Given the description of an element on the screen output the (x, y) to click on. 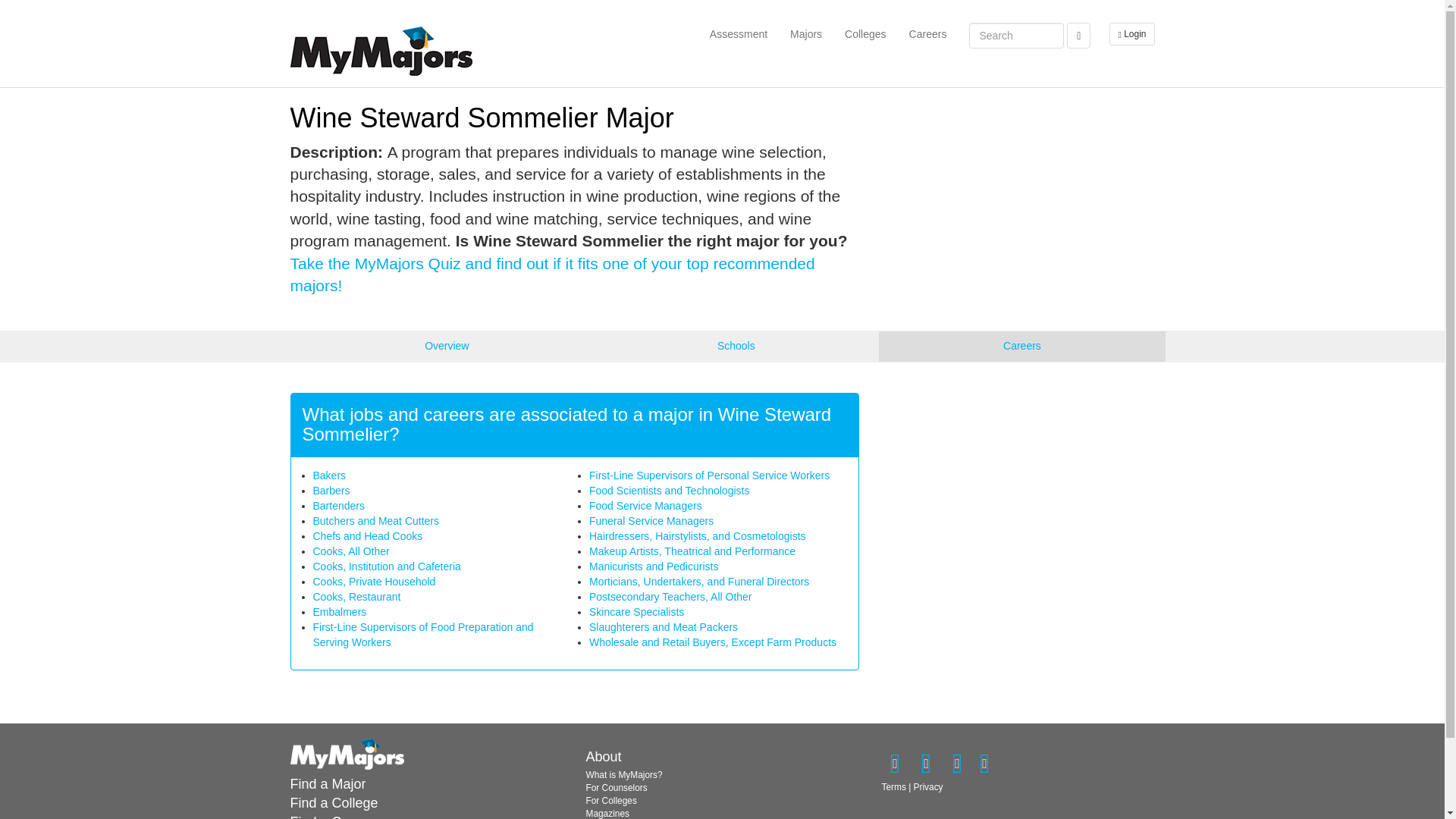
Bakers (329, 475)
Butchers and Meat Cutters (376, 521)
Careers (928, 34)
Bartenders (338, 505)
Hairdressers, Hairstylists, and Cosmetologists (697, 535)
Login (1131, 33)
Cooks, Institution and Cafeteria (386, 566)
Embalmers (339, 612)
Login (1128, 34)
Overview (445, 346)
